Given the description of an element on the screen output the (x, y) to click on. 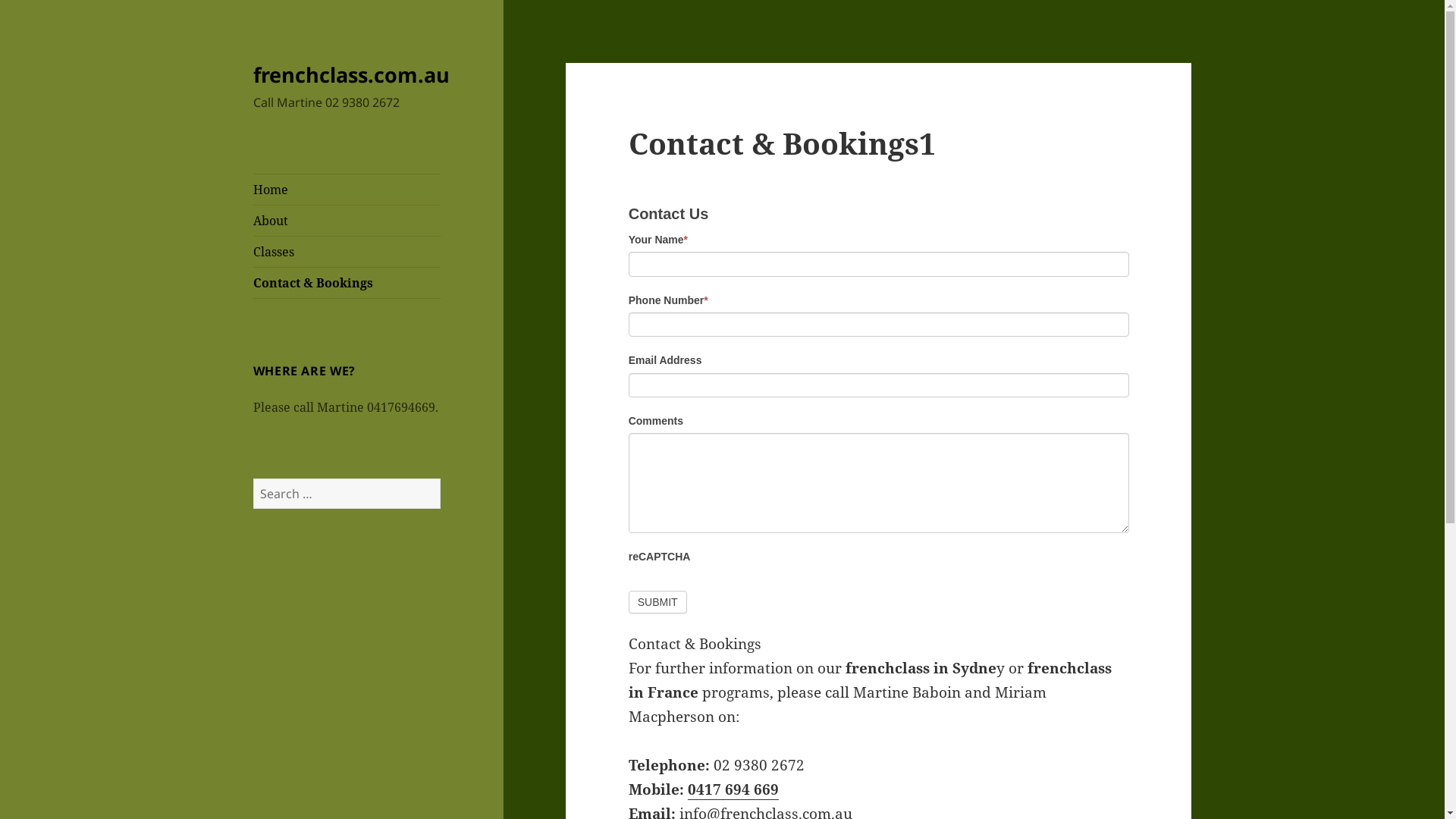
frenchclass.com.au Element type: text (351, 74)
SUBMIT Element type: text (657, 601)
Classes Element type: text (347, 251)
Search Element type: text (439, 477)
Contact & Bookings Element type: text (347, 282)
About Element type: text (347, 220)
0417 694 669 Element type: text (732, 789)
Home Element type: text (347, 189)
